Given the description of an element on the screen output the (x, y) to click on. 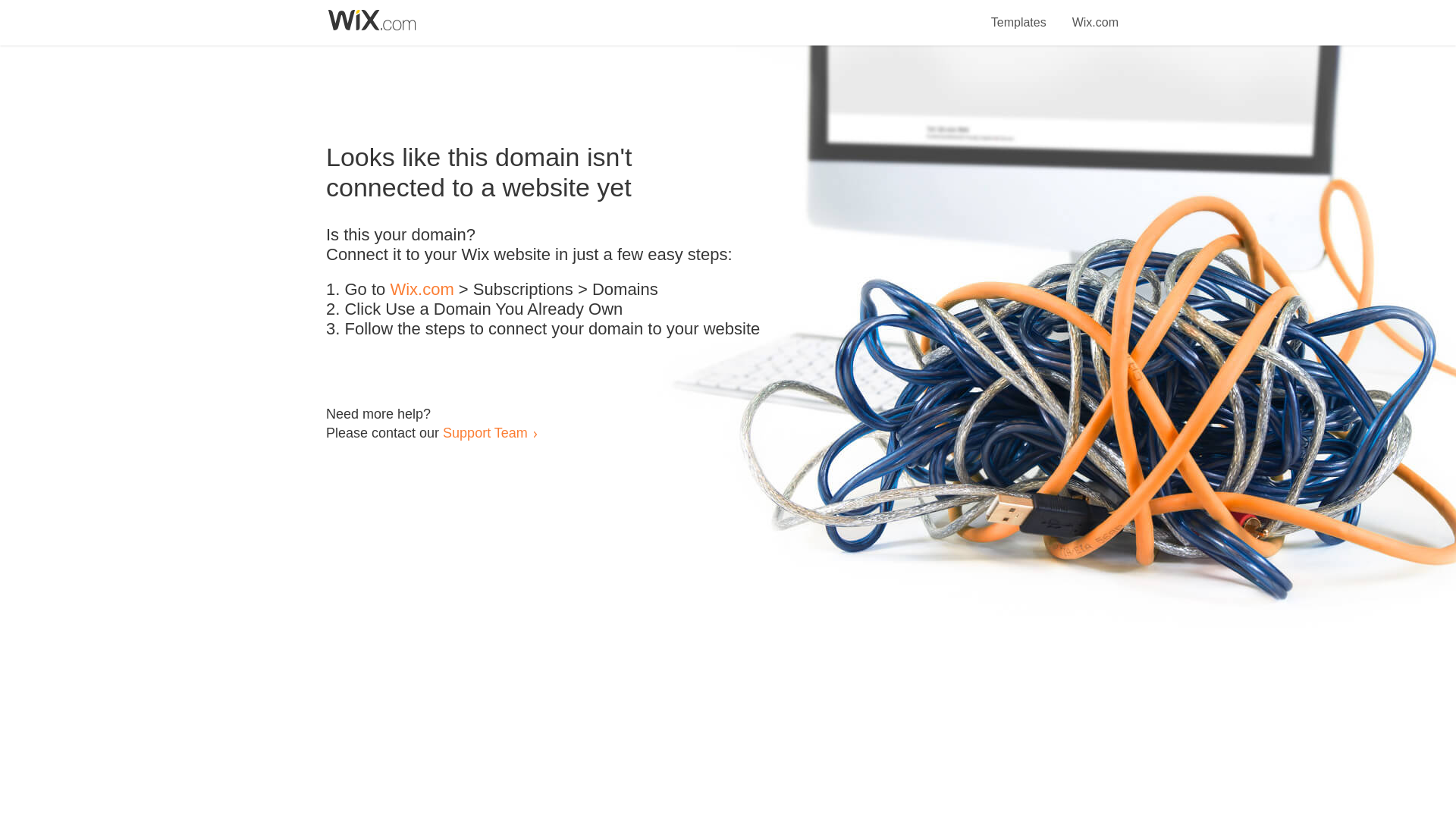
Support Team (484, 432)
Templates (1018, 14)
Wix.com (421, 289)
Wix.com (1095, 14)
